Given the description of an element on the screen output the (x, y) to click on. 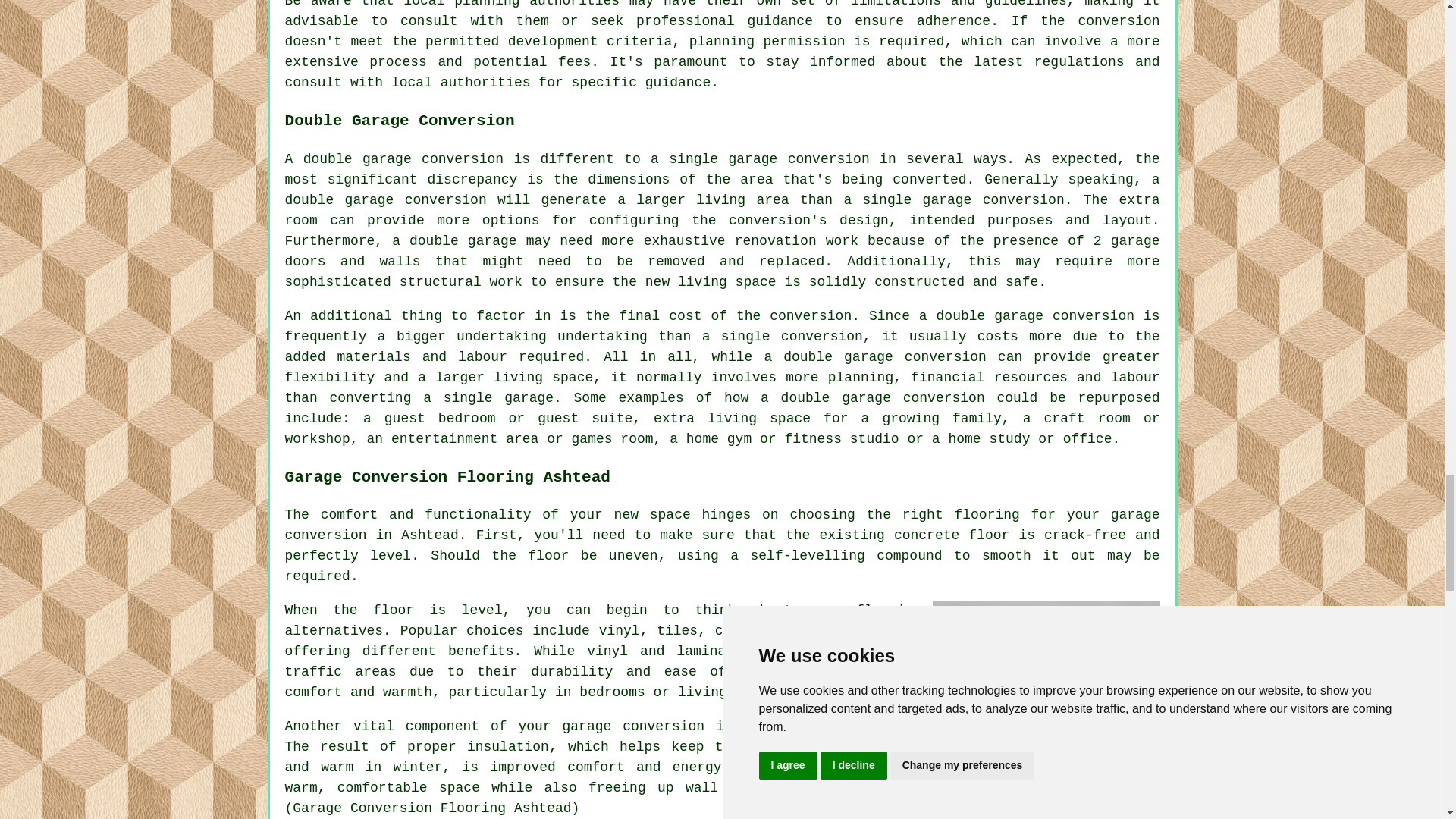
floor (392, 610)
Garage Conversion Flooring Ashtead (1046, 675)
double garage conversion (385, 200)
garage conversion (722, 524)
conversion (663, 726)
planning permission (766, 41)
